Given the description of an element on the screen output the (x, y) to click on. 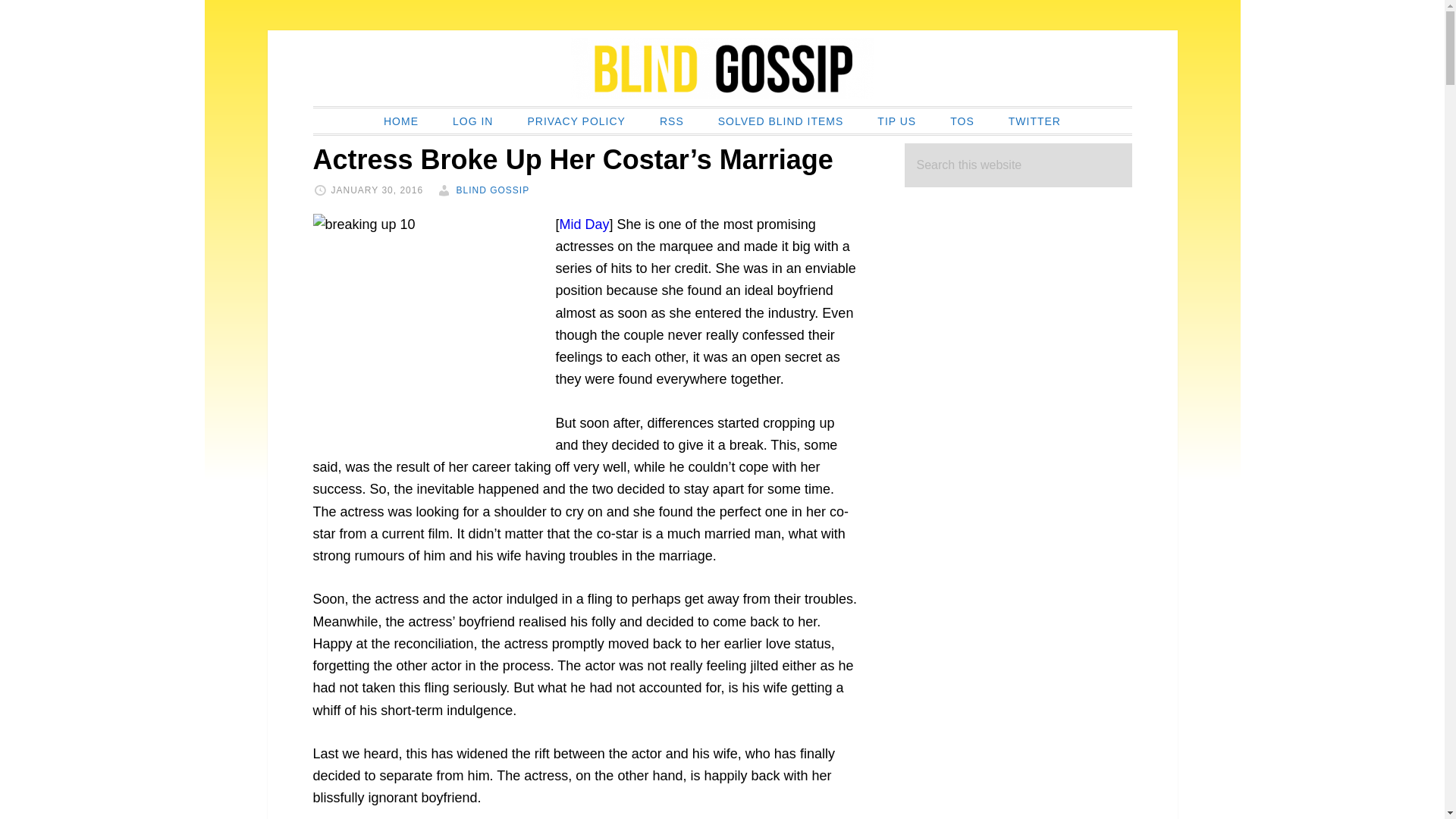
Log In, Register, Retrieve Password (473, 120)
Mid Day (584, 224)
RSS (671, 120)
RSS Feed (671, 120)
BLIND GOSSIP (721, 67)
Tip Us, Contact Us (896, 120)
BLIND GOSSIP (492, 190)
HOME (400, 120)
